Given the description of an element on the screen output the (x, y) to click on. 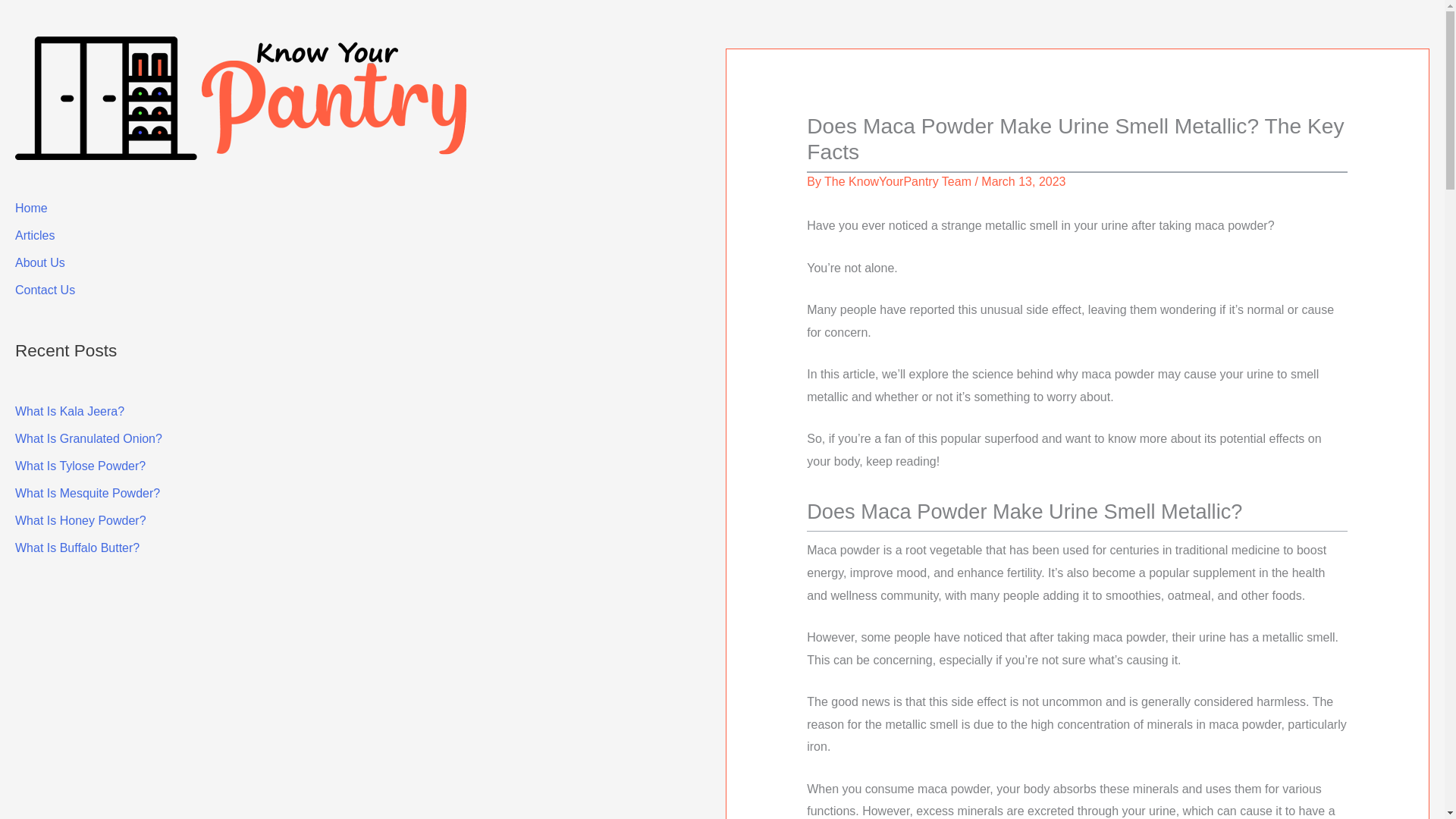
What Is Granulated Onion? (87, 438)
The KnowYourPantry Team (897, 181)
What Is Tylose Powder? (79, 465)
What Is Buffalo Butter? (76, 547)
About Us (39, 262)
What Is Kala Jeera? (68, 410)
View all posts by The KnowYourPantry Team (897, 181)
Contact Us (44, 289)
Articles (34, 235)
Home (31, 207)
What Is Honey Powder? (80, 520)
What Is Mesquite Powder? (87, 492)
